Given the description of an element on the screen output the (x, y) to click on. 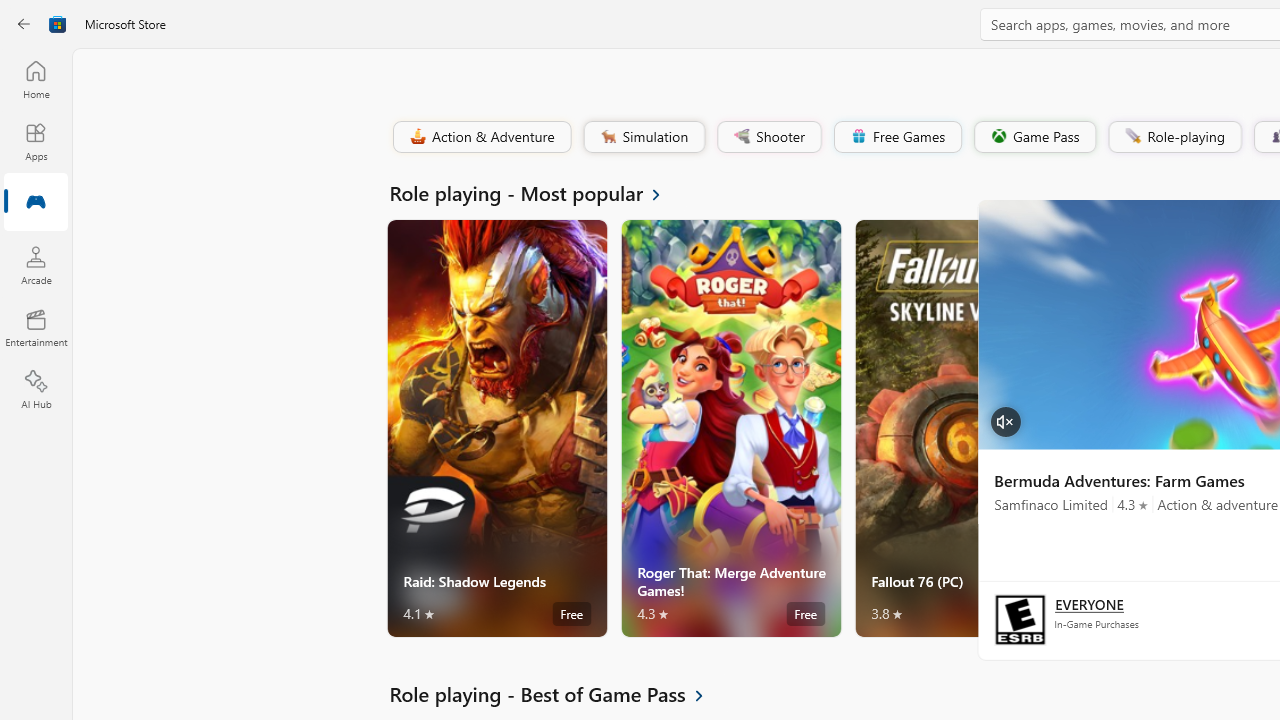
Free Games (897, 136)
See all  Role playing - Most popular (536, 192)
Simulation (643, 136)
Apps (35, 141)
Role-playing (1174, 136)
Action & Adventure (480, 136)
Game Pass (1033, 136)
Shooter (767, 136)
Entertainment (35, 327)
Gaming (35, 203)
Class: Image (1132, 136)
See all  Role playing - Best of Game Pass (558, 693)
AI Hub (35, 390)
Age rating: EVERYONE. Click for more information. (1088, 603)
